Given the description of an element on the screen output the (x, y) to click on. 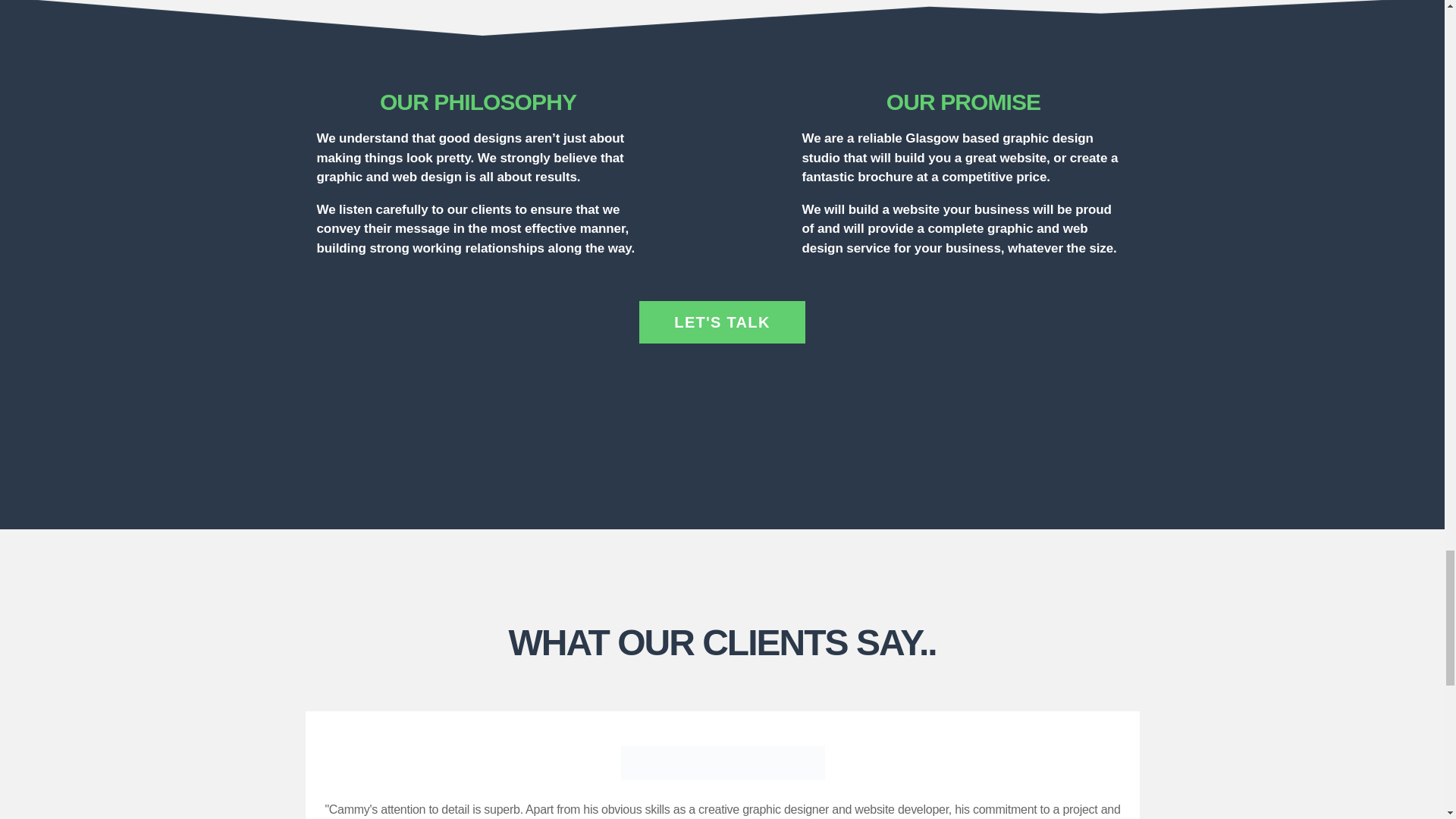
LET'S TALK (722, 322)
